Given the description of an element on the screen output the (x, y) to click on. 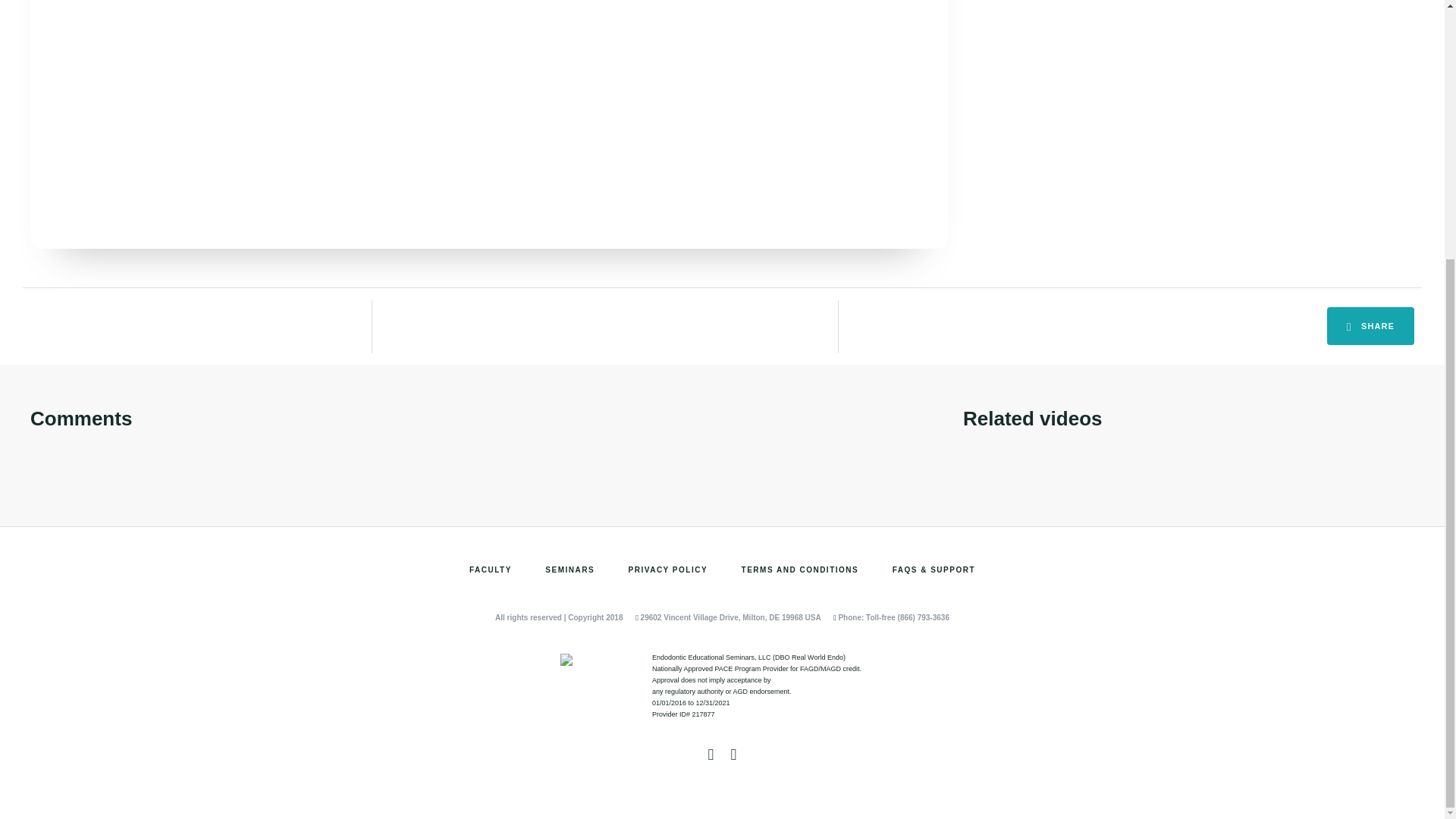
TERMS AND CONDITIONS (800, 569)
FACULTY (490, 569)
  SHARE (1369, 325)
PRIVACY POLICY (667, 569)
SEMINARS (569, 569)
